Given the description of an element on the screen output the (x, y) to click on. 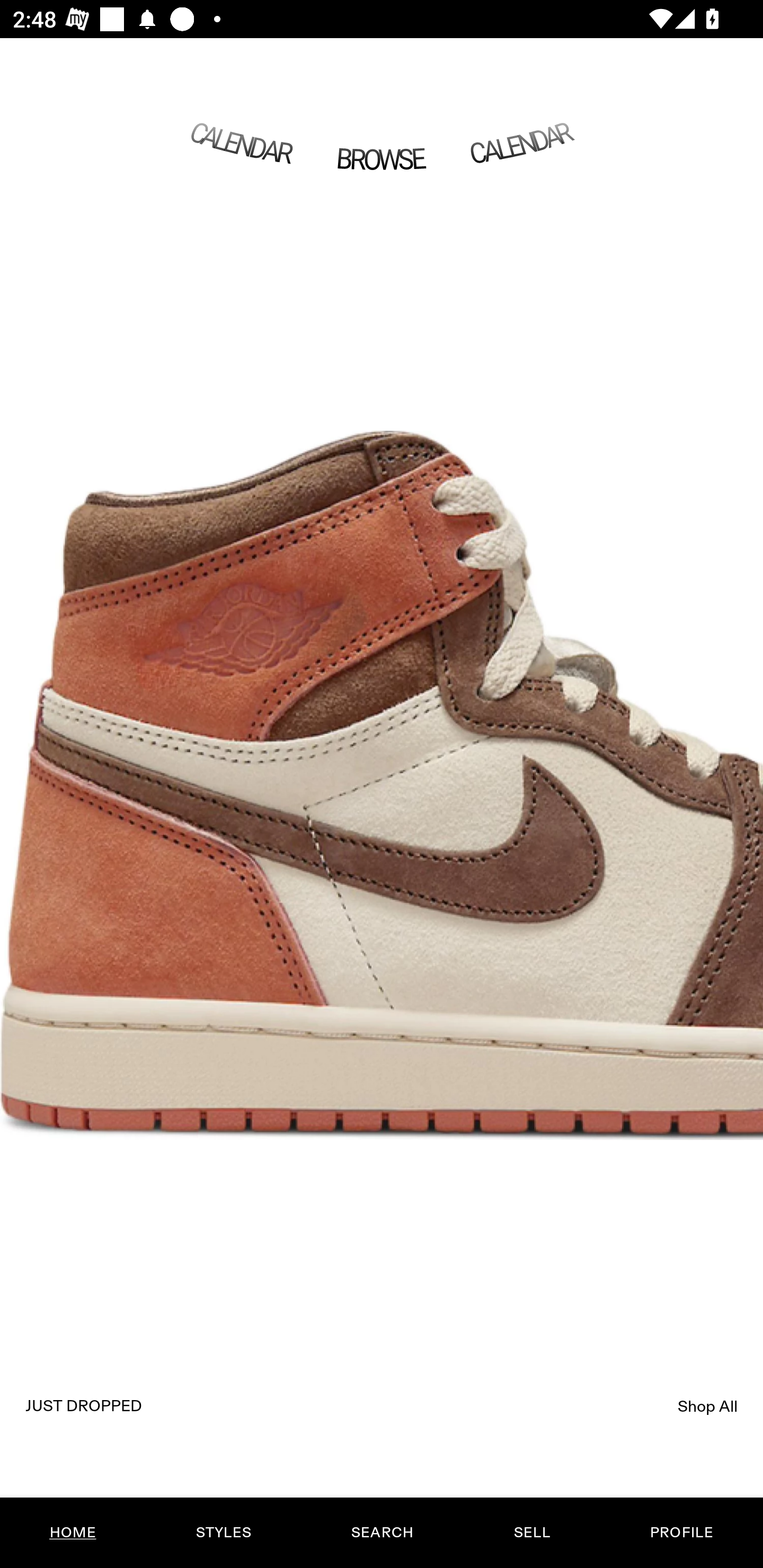
Shop All (707, 1406)
HOME (72, 1532)
STYLES (222, 1532)
SEARCH (381, 1532)
SELL (531, 1532)
PROFILE (681, 1532)
